Given the description of an element on the screen output the (x, y) to click on. 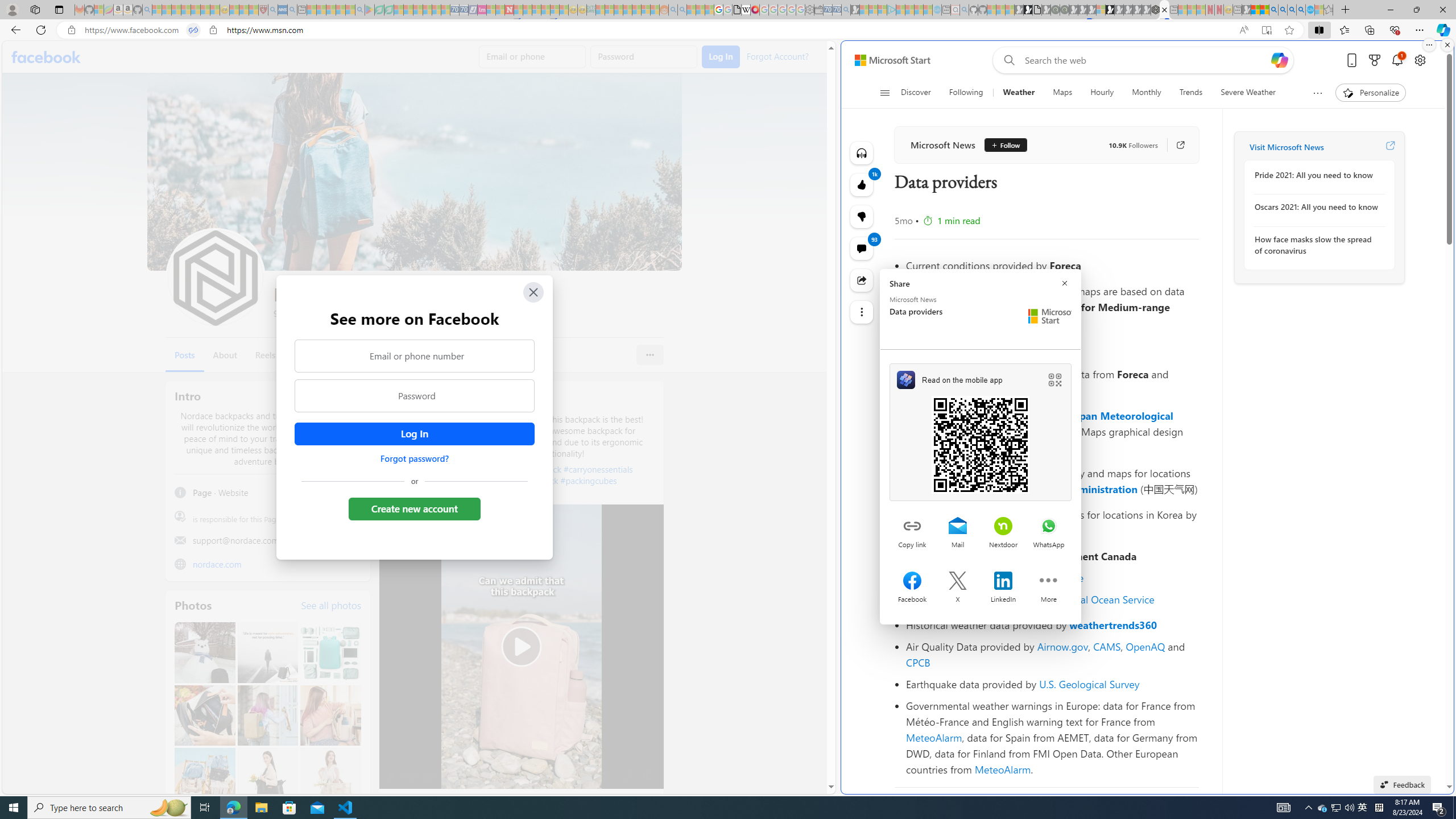
Email or phone (532, 56)
Current conditions provided by Foreca (1051, 265)
Share on facebook (911, 581)
Accessible login button (414, 433)
